Given the description of an element on the screen output the (x, y) to click on. 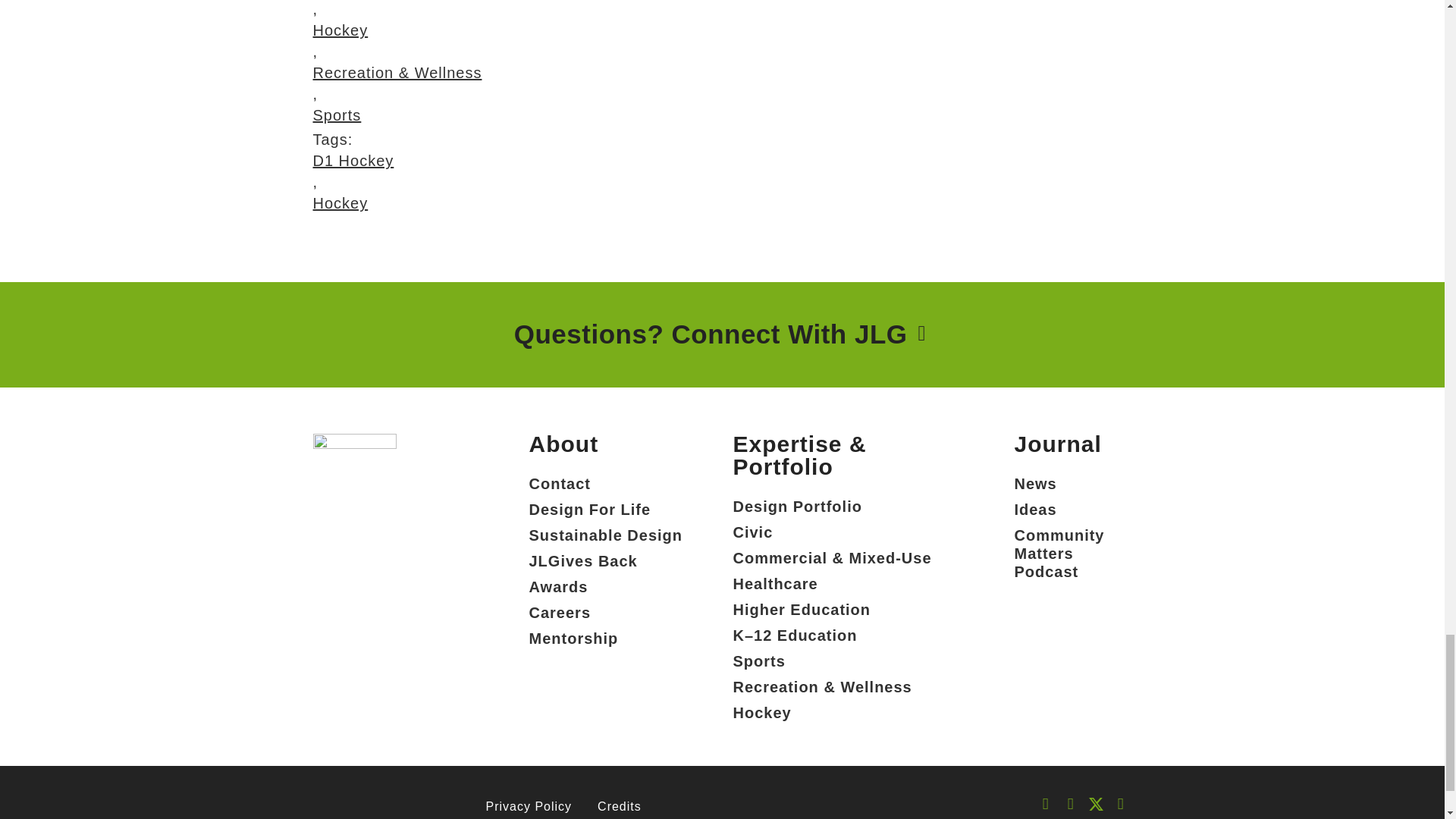
Contact (605, 483)
D1 Hockey (353, 160)
Hockey (397, 29)
Mentorship (605, 638)
About (563, 443)
Design For Life (605, 509)
Sustainable Design (605, 534)
Careers (605, 612)
Sports (397, 115)
Awards (605, 586)
